Given the description of an element on the screen output the (x, y) to click on. 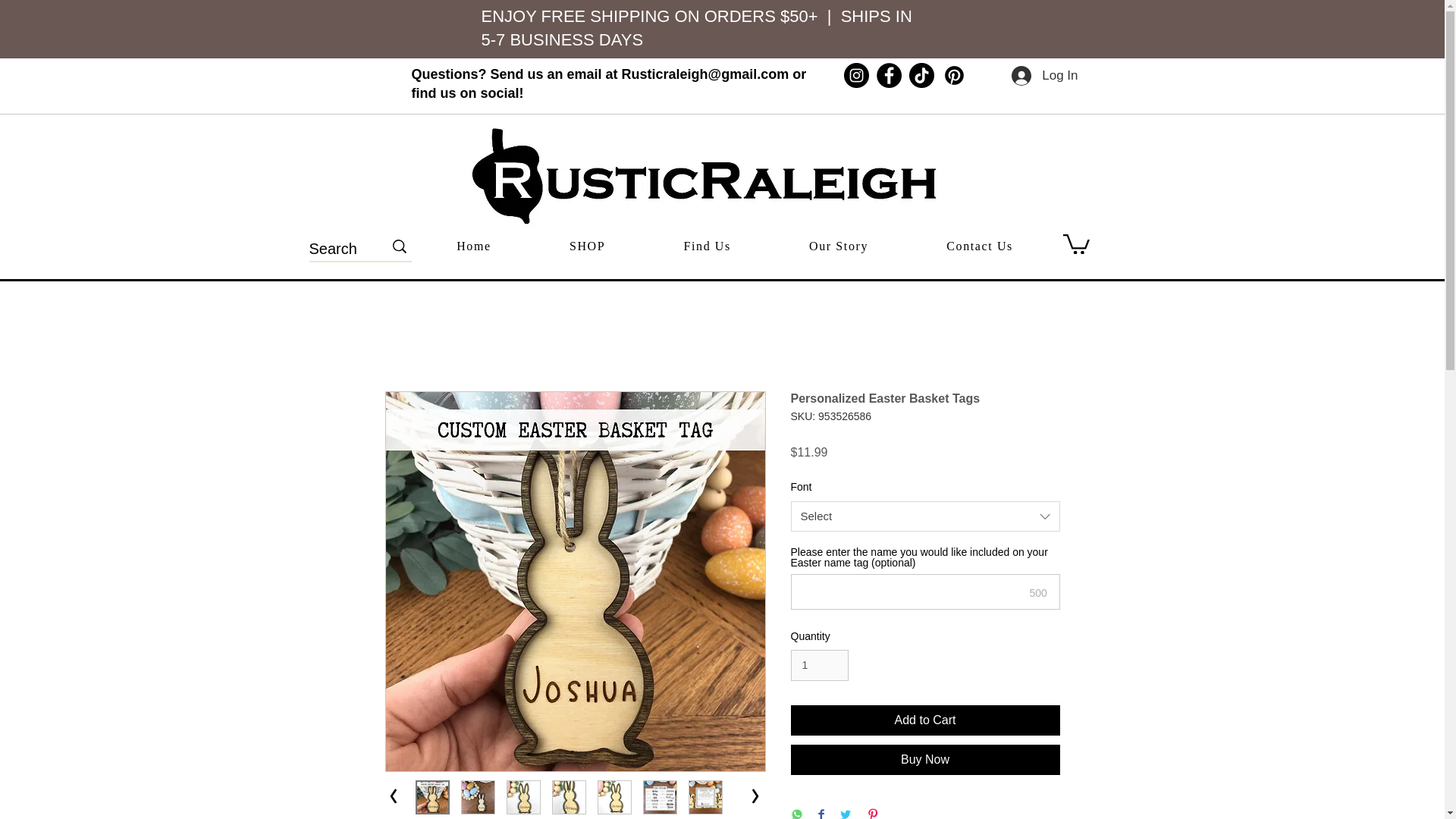
Log In (1044, 75)
Select (924, 516)
SHOP (587, 246)
Our Story (838, 246)
Contact Us (980, 246)
Home (473, 246)
Buy Now (924, 759)
Add to Cart (924, 720)
1 (818, 665)
Find Us (707, 246)
